Given the description of an element on the screen output the (x, y) to click on. 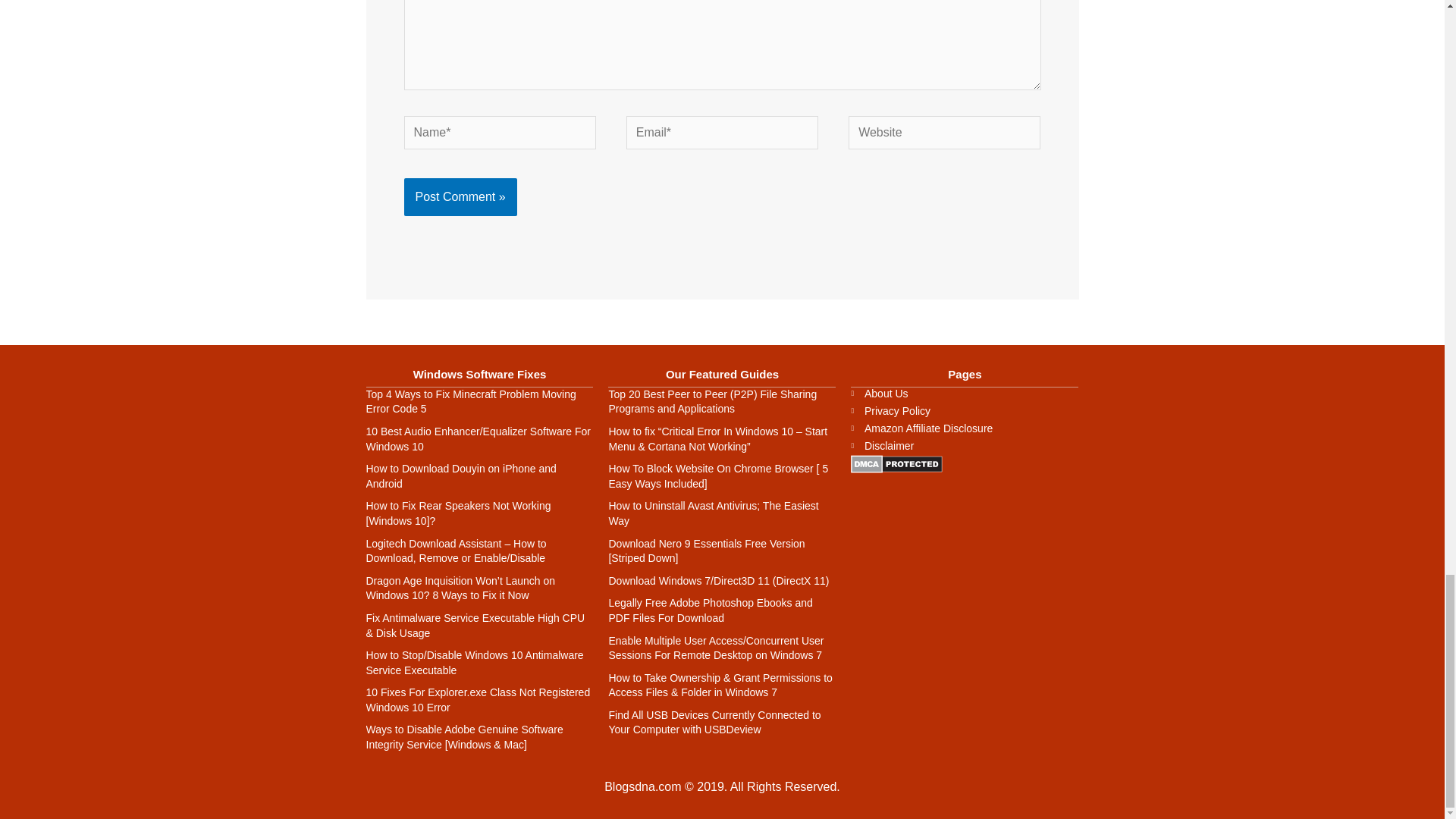
Top 4 Ways to Fix Minecraft Problem Moving Error Code 5 (470, 401)
DMCA.com Protection Status (896, 462)
How to Uninstall Avast Antivirus; The Easiest Way (713, 513)
How to Download Douyin on iPhone and Android (460, 475)
About Us (964, 393)
